Given the description of an element on the screen output the (x, y) to click on. 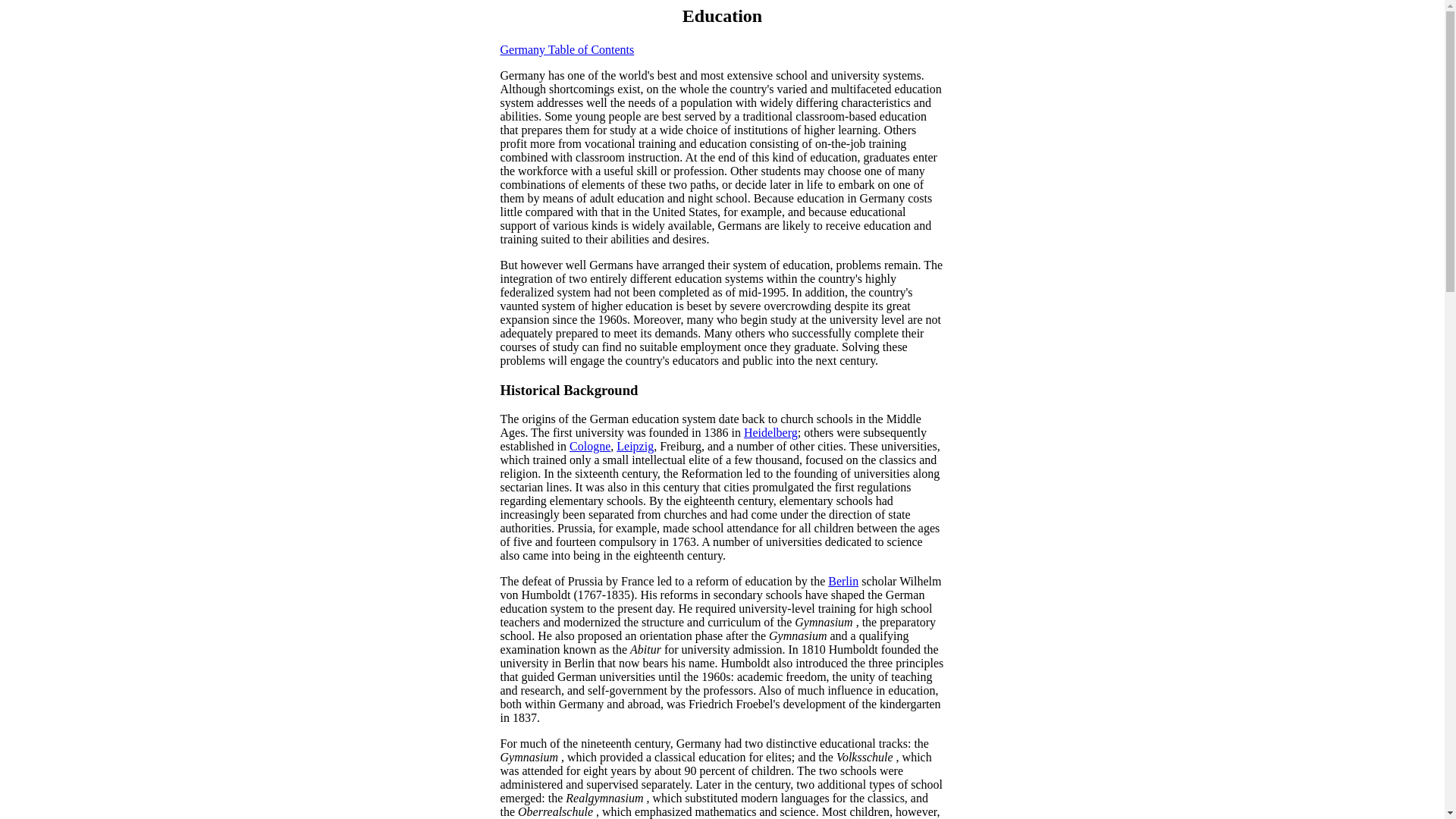
Leipzig (634, 445)
Heidelberg (770, 431)
Germany Table of Contents (567, 49)
Cologne (589, 445)
Berlin (843, 581)
